Given the description of an element on the screen output the (x, y) to click on. 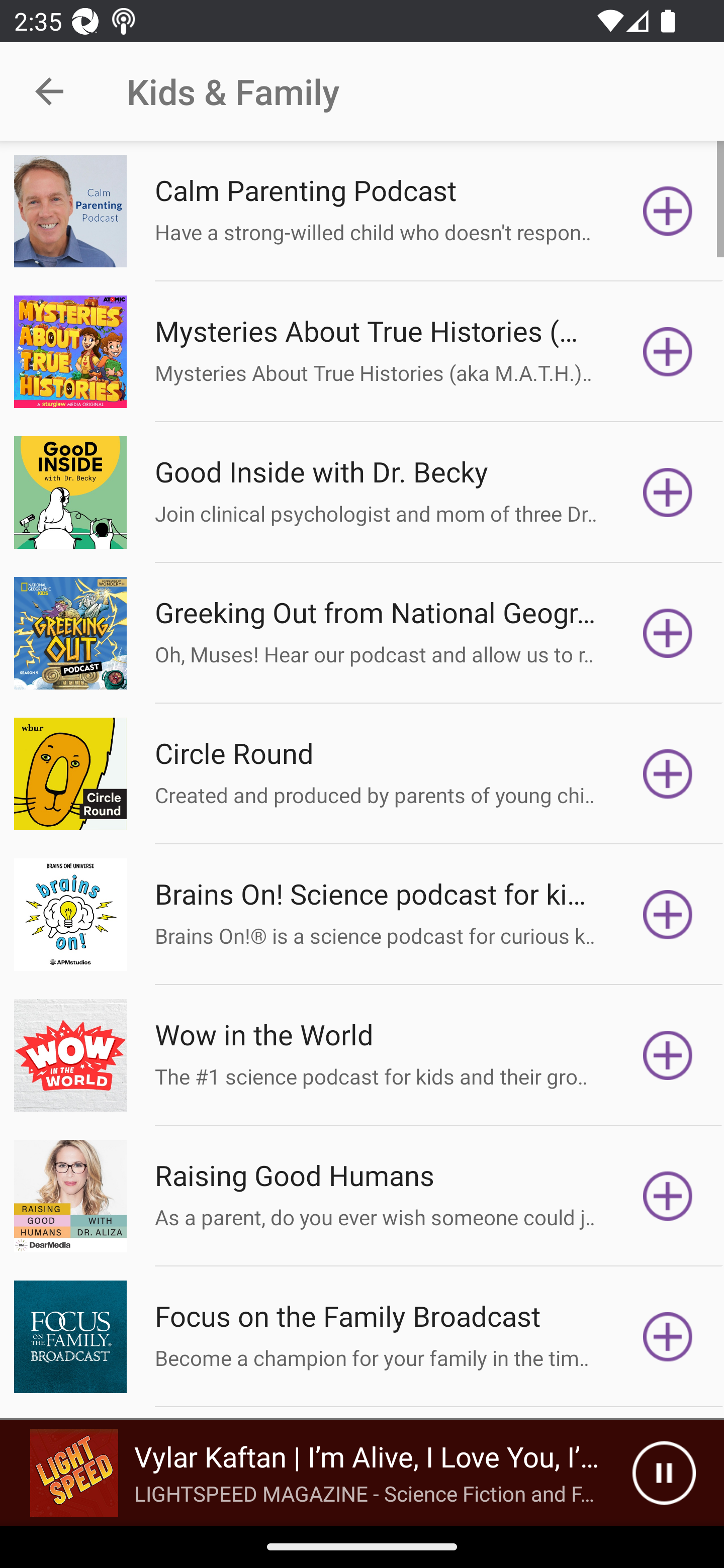
Navigate up (49, 91)
Subscribe (667, 211)
Subscribe (667, 350)
Subscribe (667, 491)
Subscribe (667, 633)
Subscribe (667, 773)
Subscribe (667, 913)
Subscribe (667, 1054)
Subscribe (667, 1195)
Subscribe (667, 1336)
Pause (663, 1472)
